Given the description of an element on the screen output the (x, y) to click on. 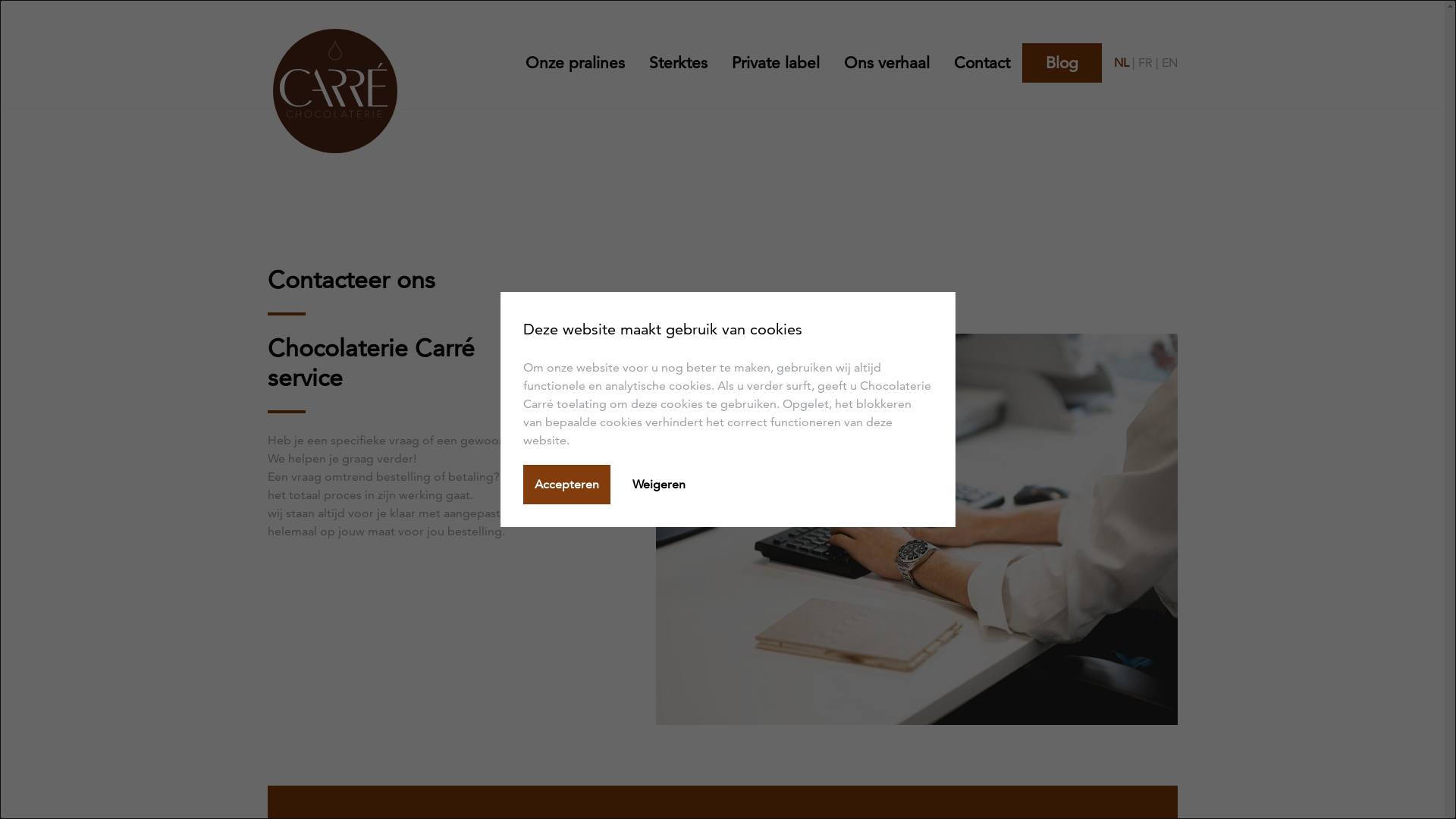
FR| Element type: text (1149, 62)
Ons verhaal Element type: text (886, 62)
Accepteren Element type: text (566, 484)
NL| Element type: text (1125, 62)
Private label Element type: text (774, 62)
Contact Element type: text (981, 62)
Sterktes Element type: text (678, 62)
Blog Element type: text (1060, 62)
EN Element type: text (1169, 62)
Weigeren Element type: text (658, 484)
Onze pralines Element type: text (580, 62)
